Given the description of an element on the screen output the (x, y) to click on. 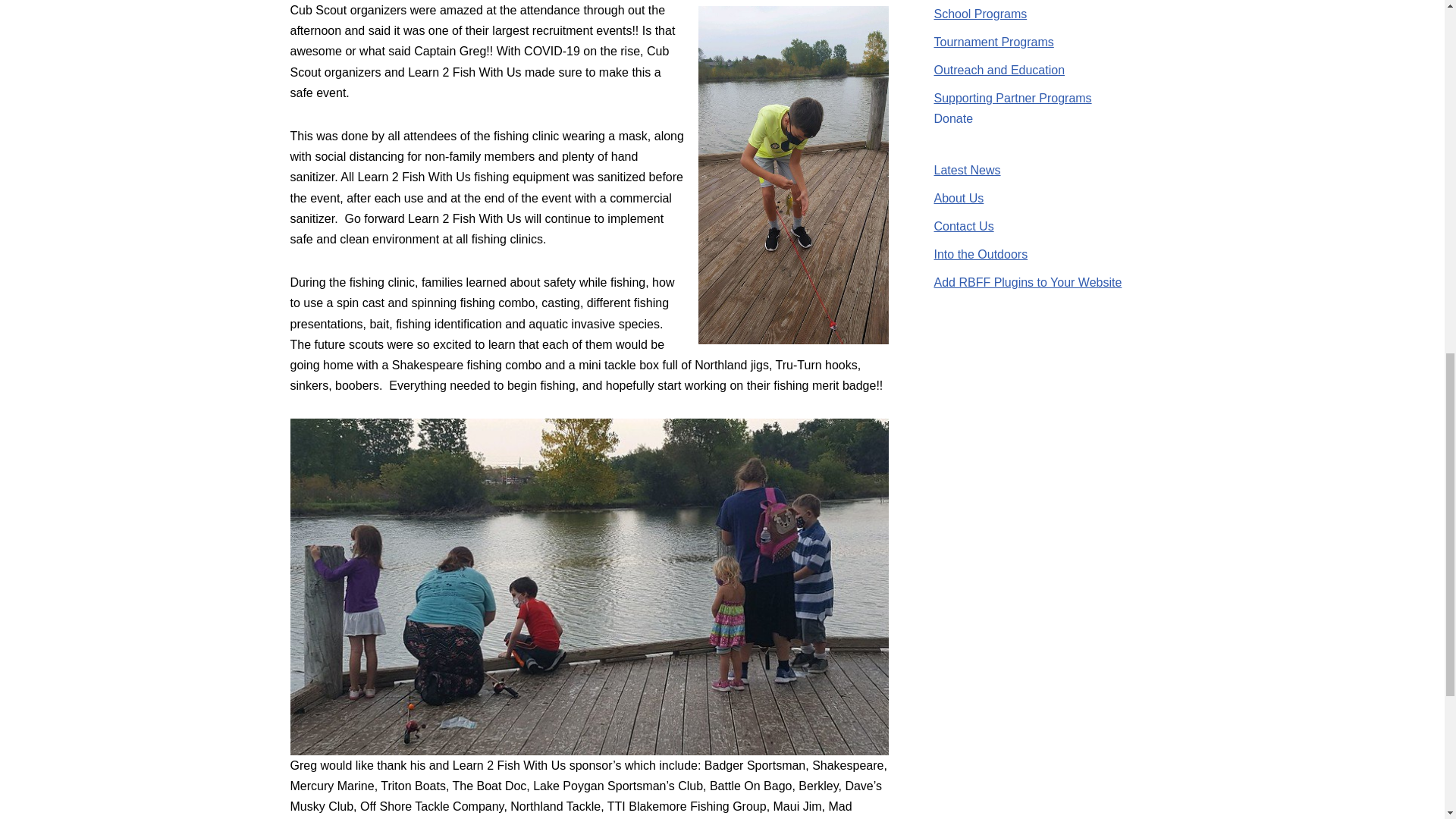
Contact Us (964, 226)
Tournament Programs (994, 42)
School Programs (980, 13)
Donate (954, 118)
Supporting Partner Programs (1013, 97)
About Us (959, 197)
Outreach and Education (999, 69)
Latest News (967, 169)
